Given the description of an element on the screen output the (x, y) to click on. 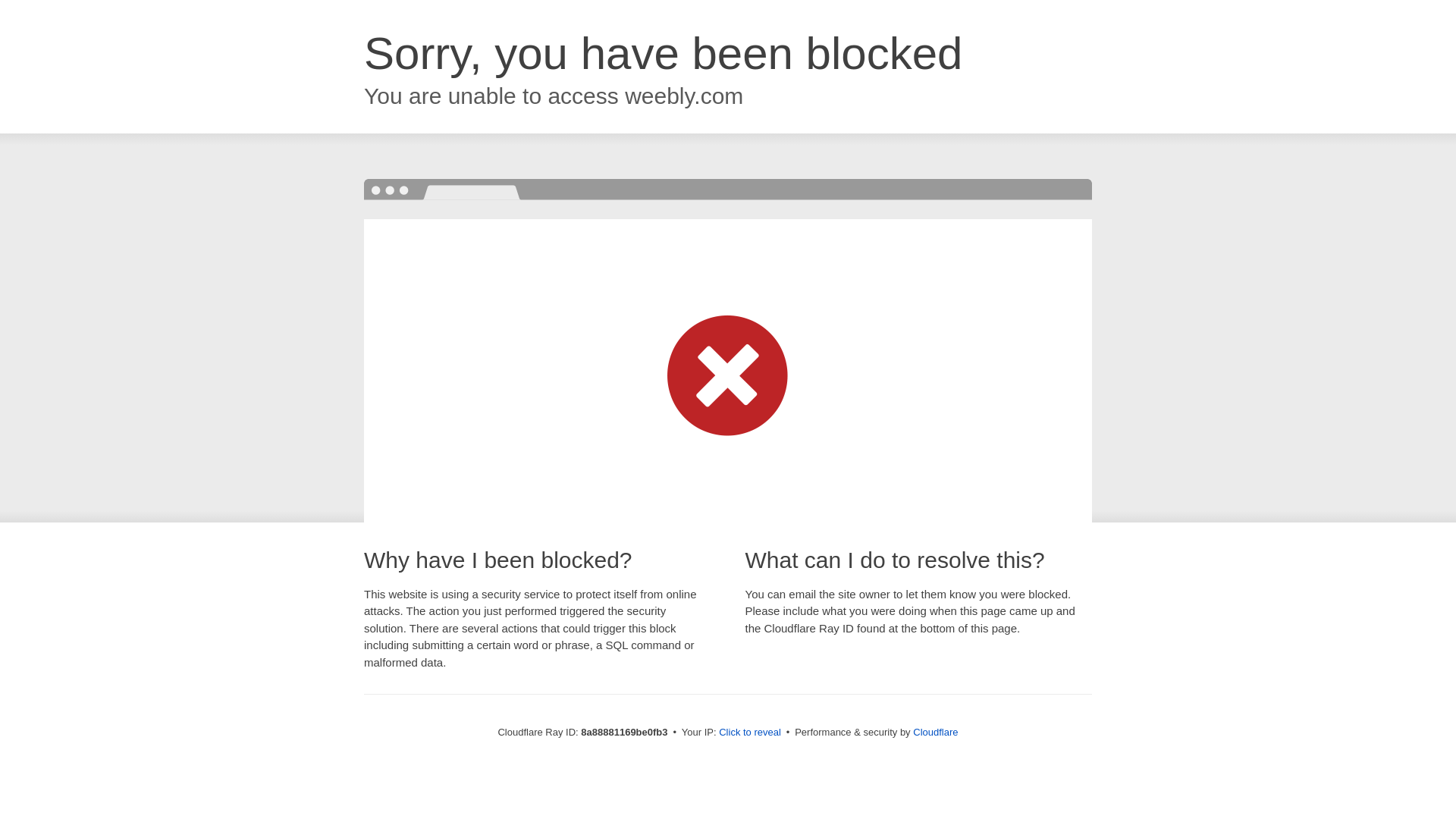
Click to reveal (749, 732)
Cloudflare (935, 731)
